Given the description of an element on the screen output the (x, y) to click on. 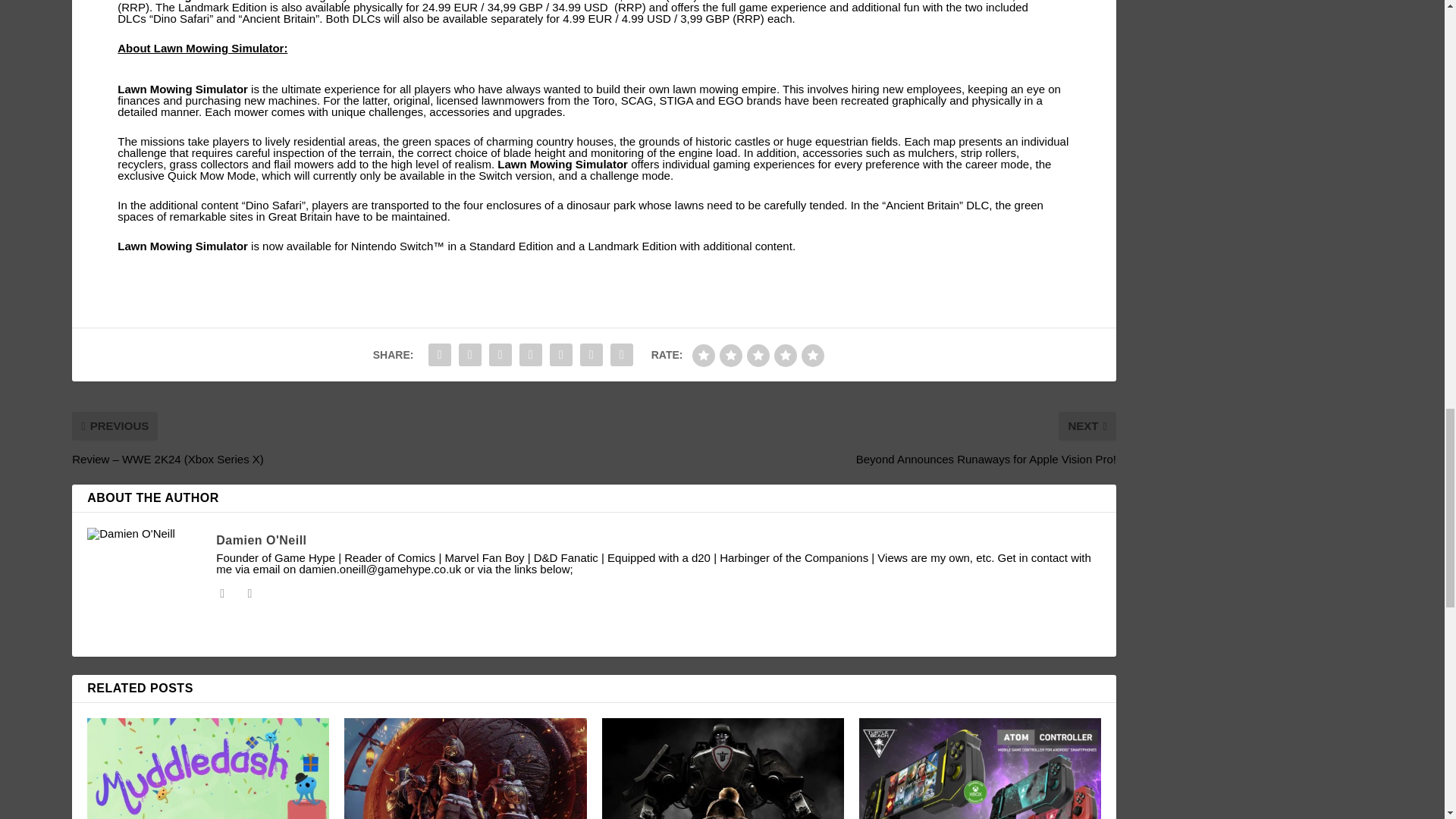
poor (730, 354)
Landmark Edition (632, 245)
bad (703, 354)
Standard Edition (510, 245)
Standard Edition (414, 1)
Landmark Edition (802, 1)
Landmark Edition (221, 6)
